Given the description of an element on the screen output the (x, y) to click on. 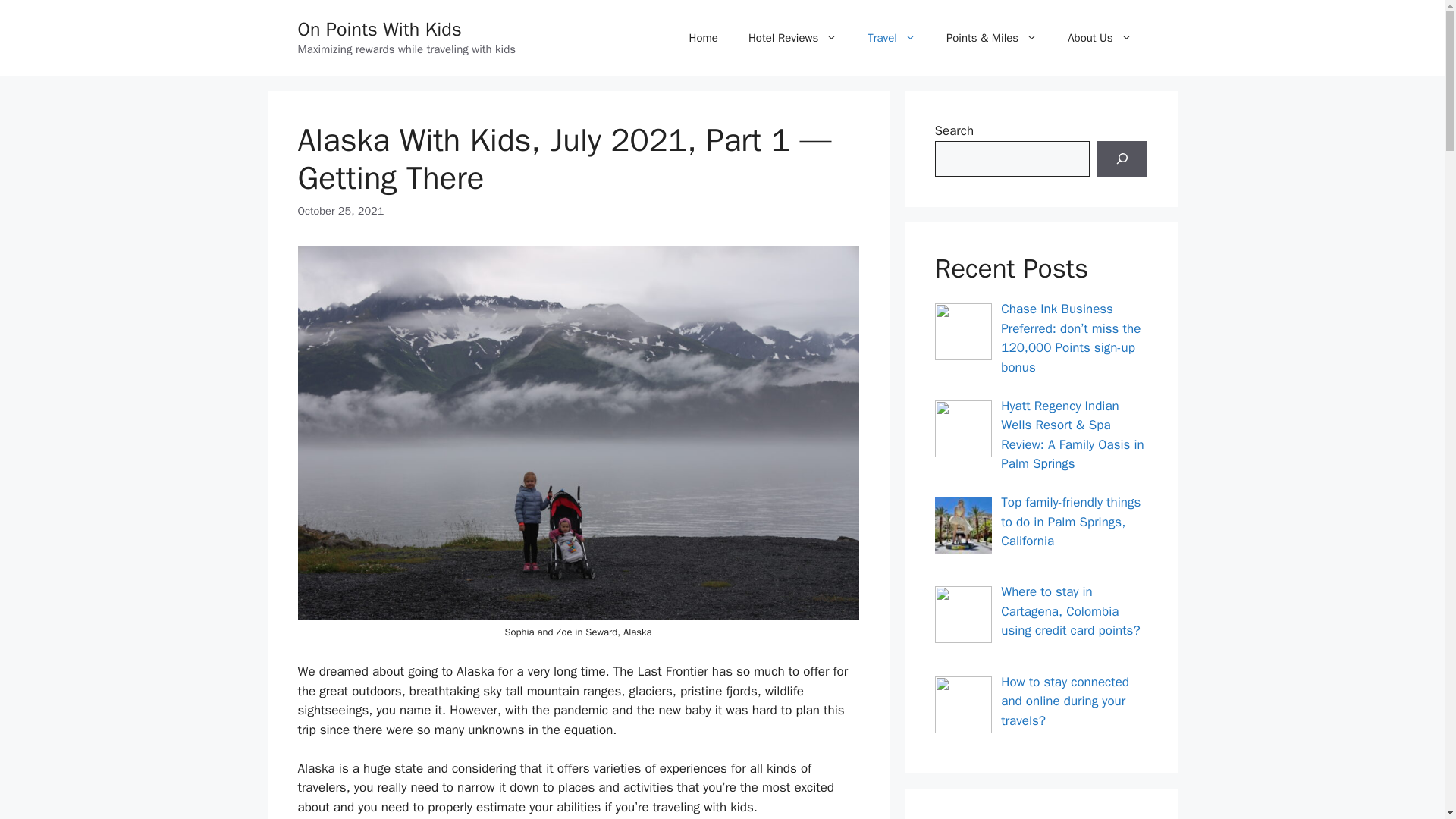
About Us (1099, 37)
Home (703, 37)
On Points With Kids (379, 28)
Hotel Reviews (792, 37)
Travel (891, 37)
